Given the description of an element on the screen output the (x, y) to click on. 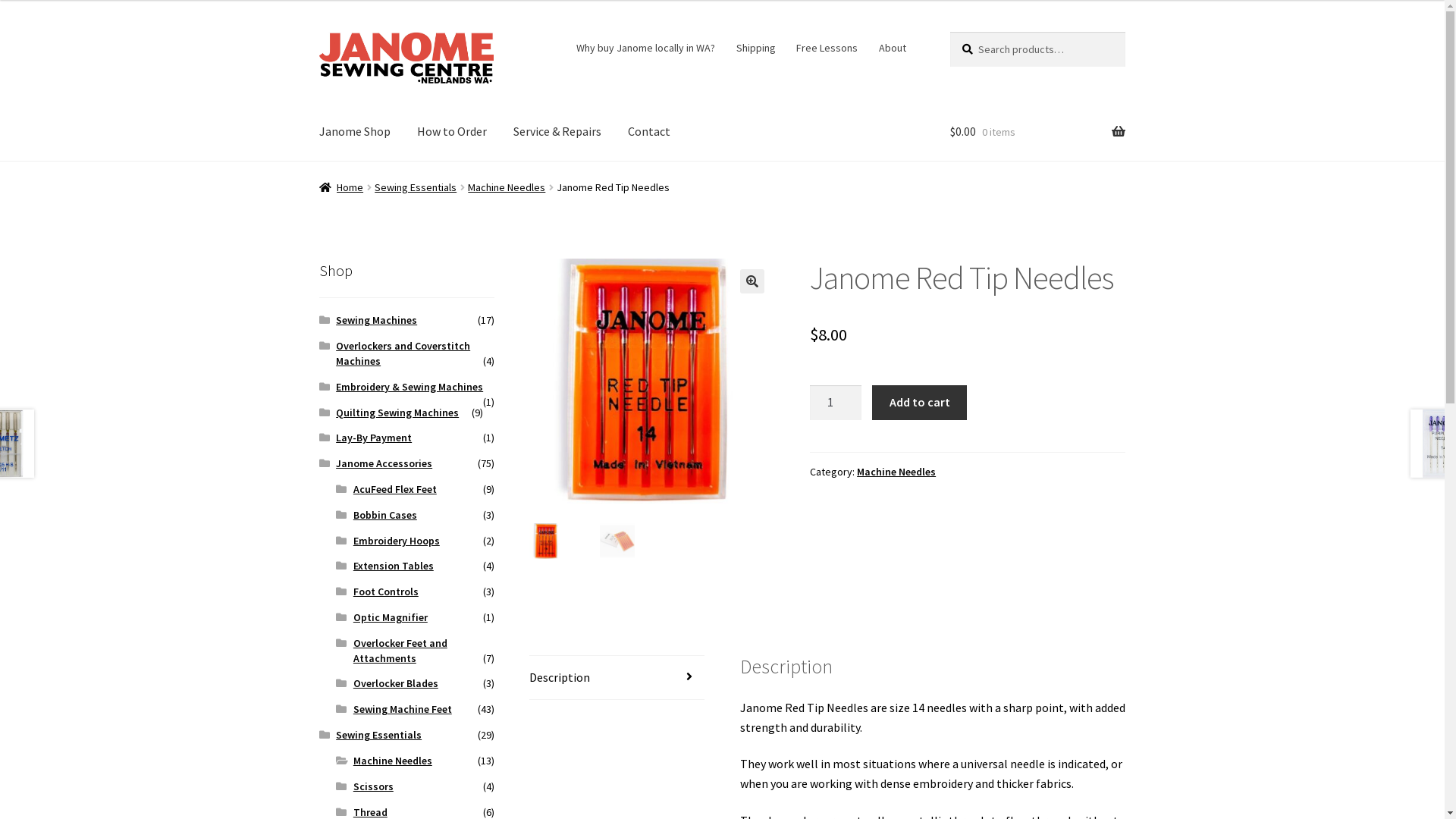
Embroidery Hoops Element type: text (396, 540)
Optic Magnifier Element type: text (390, 617)
Foot Controls Element type: text (385, 591)
Janome Red Tip Sewing Machine Needles Element type: hover (652, 381)
Contact Element type: text (648, 131)
Machine Needles Element type: text (392, 760)
AcuFeed Flex Feet Element type: text (394, 488)
Sewing Machine Feet Element type: text (402, 708)
Machine Needles Element type: text (895, 471)
Machine Needles Element type: text (506, 187)
Search Element type: text (949, 31)
Extension Tables Element type: text (393, 565)
How to Order Element type: text (451, 131)
Sewing Essentials Element type: text (378, 734)
Description Element type: text (616, 677)
Free Lessons Element type: text (827, 47)
Embroidery & Sewing Machines Element type: text (409, 386)
Service & Repairs Element type: text (557, 131)
About Element type: text (892, 47)
Sewing Machines Element type: text (376, 319)
Bobbin Cases Element type: text (385, 514)
Add to cart Element type: text (919, 402)
Overlocker Feet and Attachments Element type: text (400, 650)
Scissors Element type: text (373, 786)
Janome Shop Element type: text (354, 131)
Shipping Element type: text (755, 47)
Overlockers and Coverstitch Machines Element type: text (402, 352)
Quilting Sewing Machines Element type: text (396, 412)
Overlocker Blades Element type: text (395, 683)
$0.00 0 items Element type: text (1037, 131)
Home Element type: text (341, 187)
Janome Accessories Element type: text (383, 463)
Sewing Essentials Element type: text (415, 187)
Lay-By Payment Element type: text (373, 437)
Why buy Janome locally in WA? Element type: text (645, 47)
Janome Red Tip Sewing Machine Needles-2 Element type: hover (897, 381)
Skip to navigation Element type: text (318, 31)
